Given the description of an element on the screen output the (x, y) to click on. 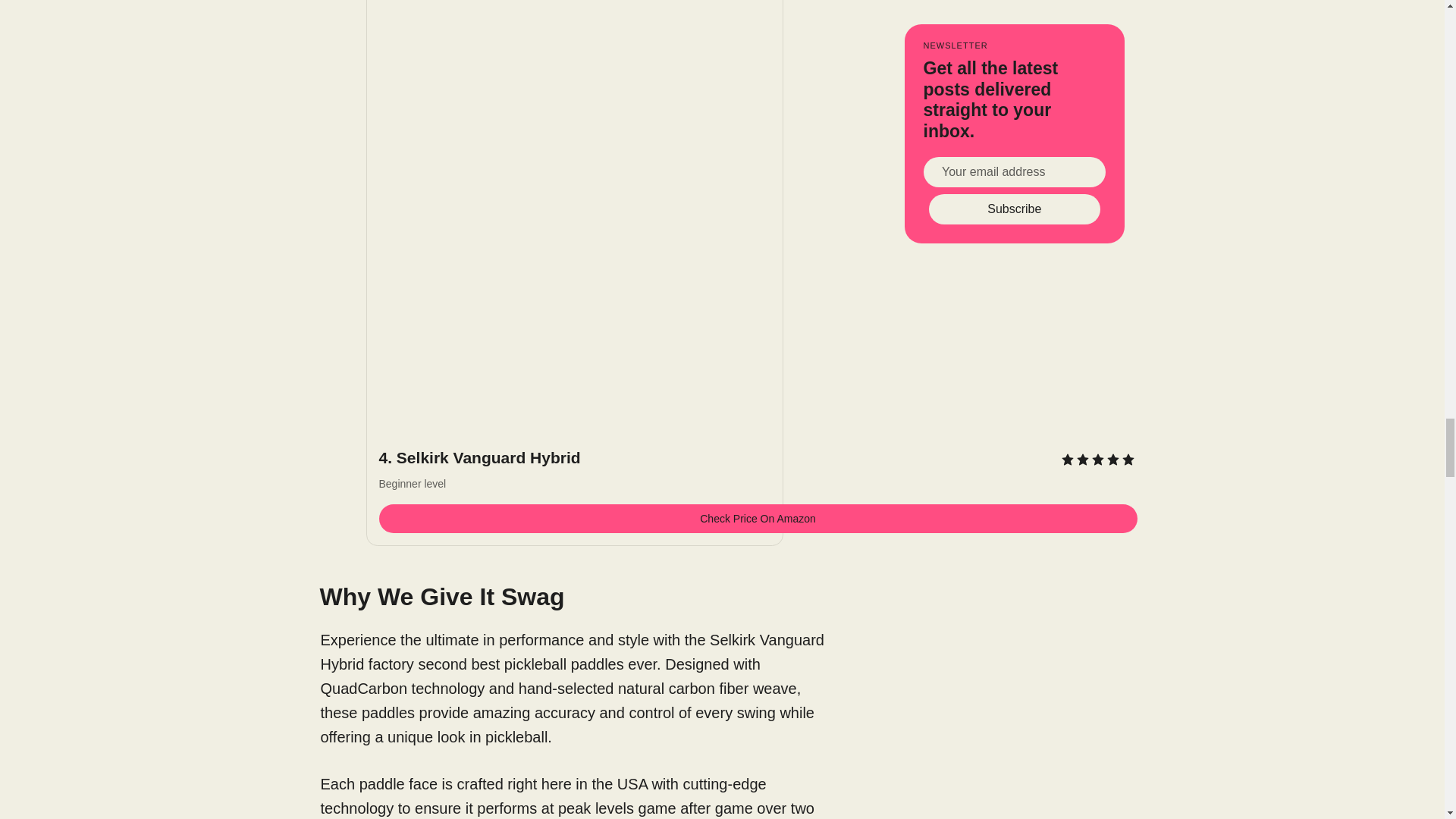
Check Price On Amazon (757, 518)
